Given the description of an element on the screen output the (x, y) to click on. 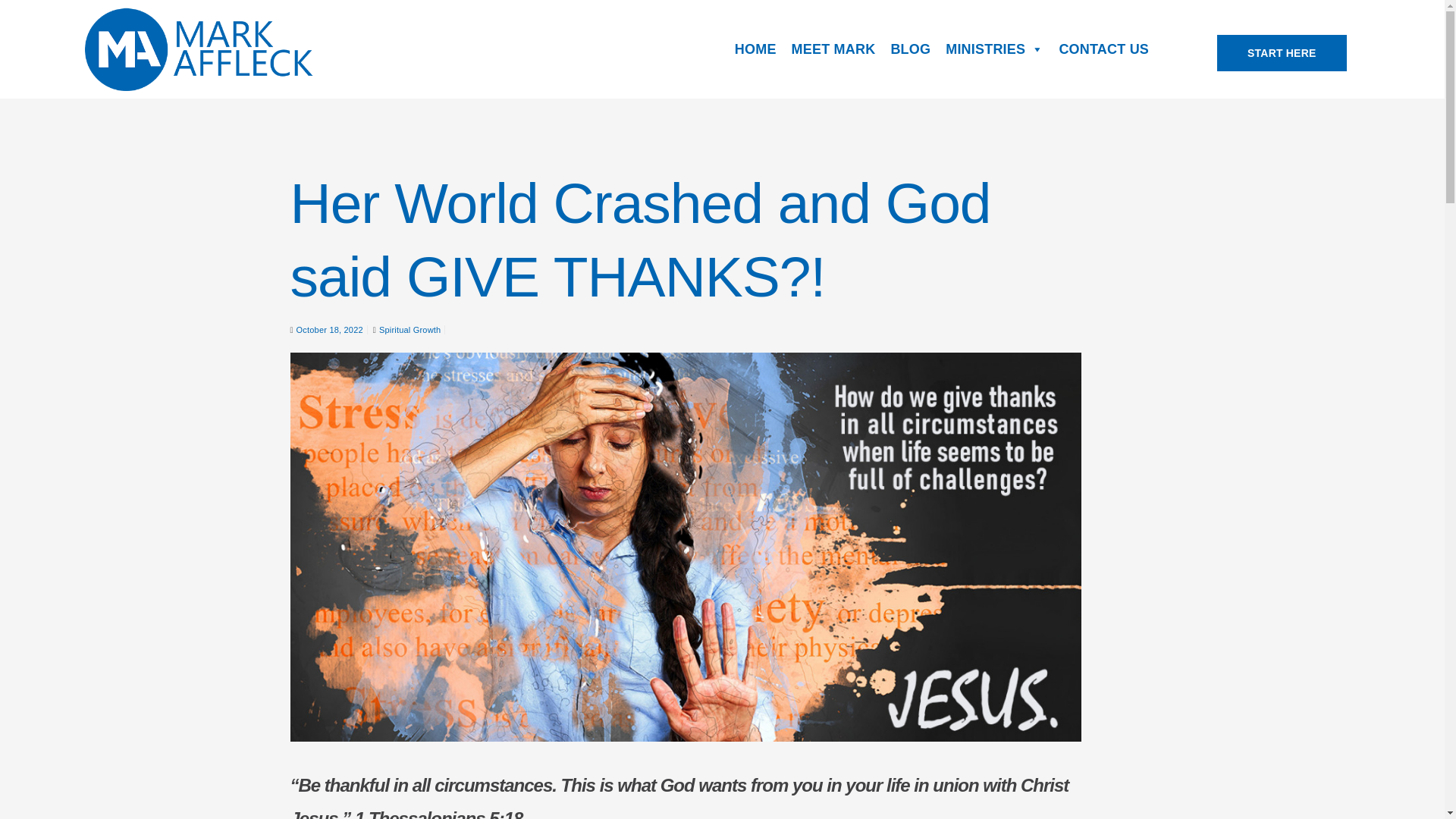
View all posts in Spiritual Growth (409, 329)
CONTACT US (1103, 48)
Spiritual Growth (409, 329)
HOME (755, 48)
BLOG (909, 48)
START HERE (1281, 53)
MINISTRIES (994, 48)
October 18, 2022 (329, 329)
MEET MARK (833, 48)
